Given the description of an element on the screen output the (x, y) to click on. 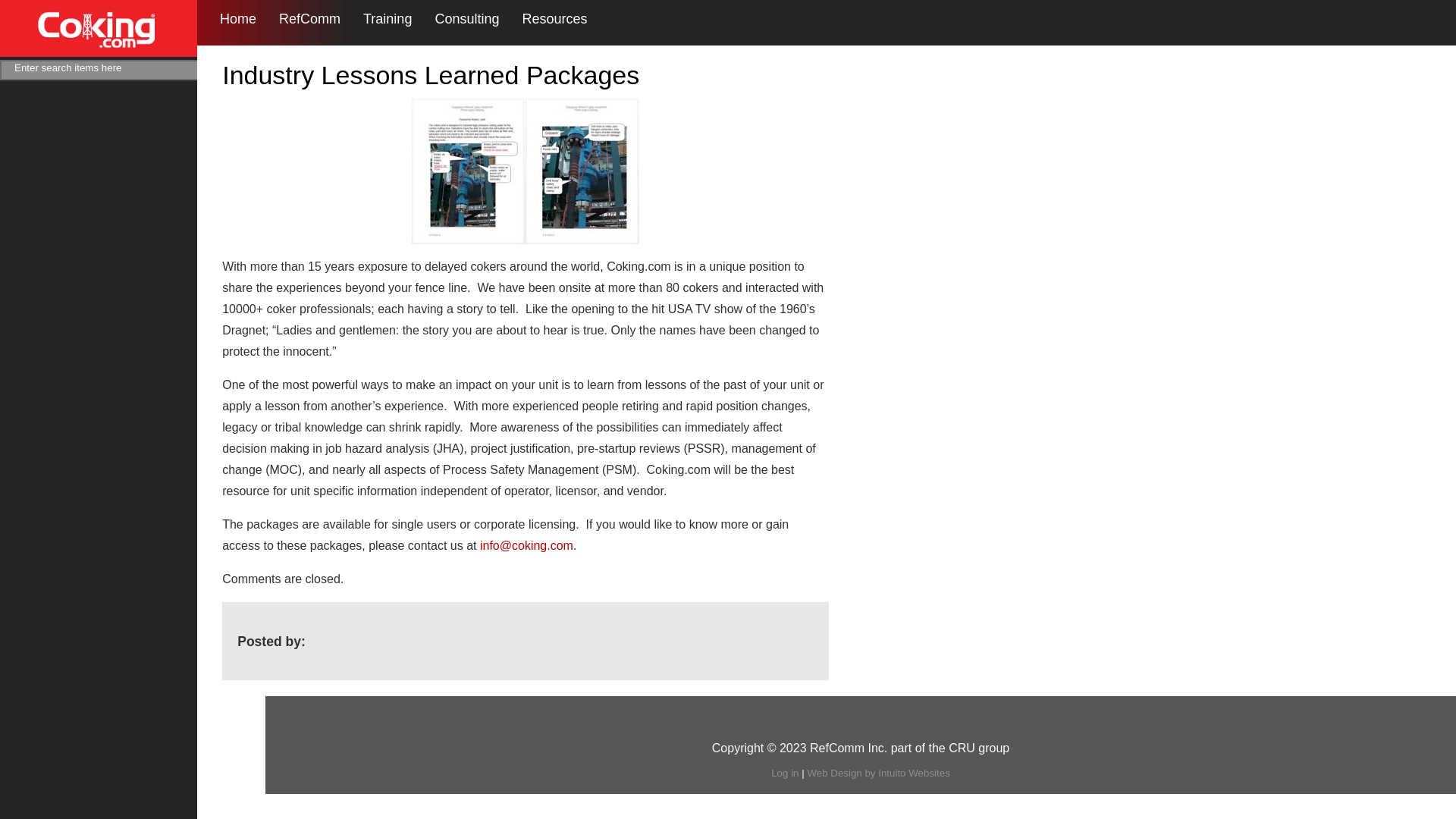
Training (387, 19)
Resources (553, 19)
Consulting (466, 19)
Home (237, 19)
Training (387, 19)
Search (217, 69)
RefComm (309, 19)
